Given the description of an element on the screen output the (x, y) to click on. 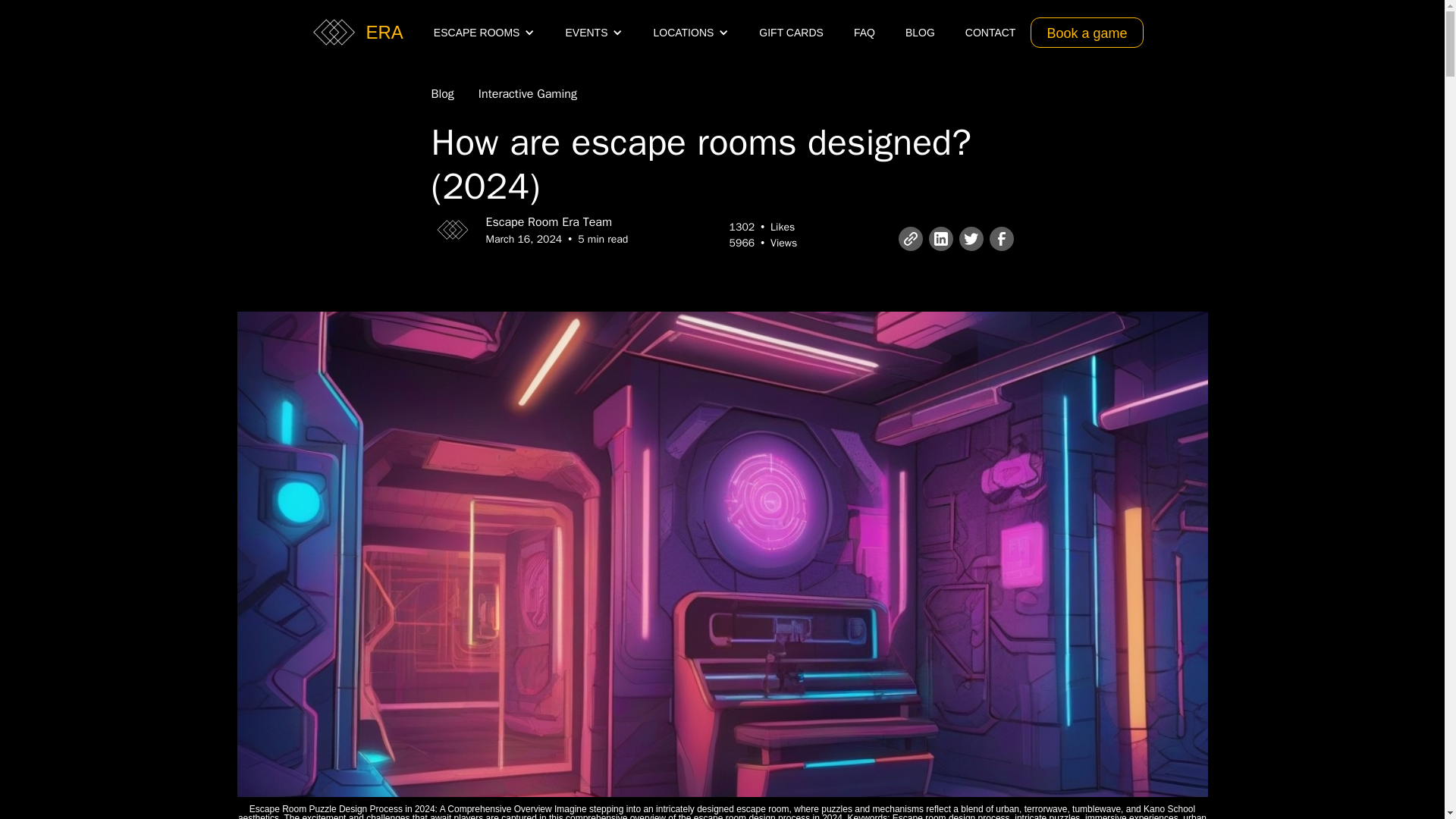
ERA (391, 31)
Book a game (1086, 31)
GIFT CARDS (791, 31)
FAQ (863, 31)
CONTACT (990, 31)
Blog (441, 94)
Interactive Gaming (527, 94)
BLOG (919, 31)
